Given the description of an element on the screen output the (x, y) to click on. 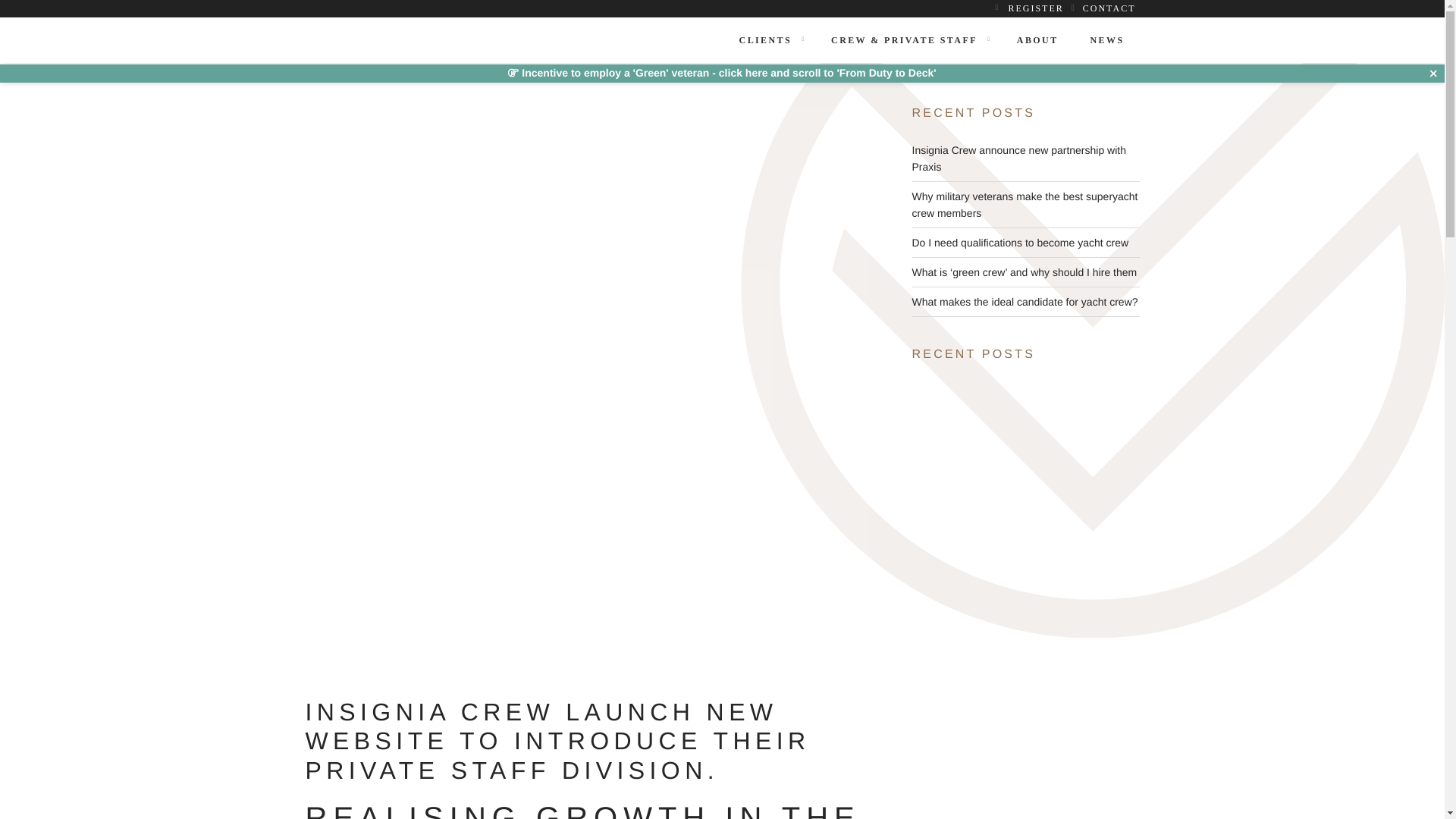
What makes the ideal candidate for yacht crew? (1024, 301)
Do I need qualifications to become yacht crew (1019, 242)
ABOUT (1036, 39)
Insignia Crew announce new partnership with Praxis (1018, 158)
CONTACT (1109, 8)
NEWS (1106, 39)
CLIENTS (764, 39)
REGISTER (1034, 8)
Why military veterans make the best superyacht crew members (1024, 204)
